Given the description of an element on the screen output the (x, y) to click on. 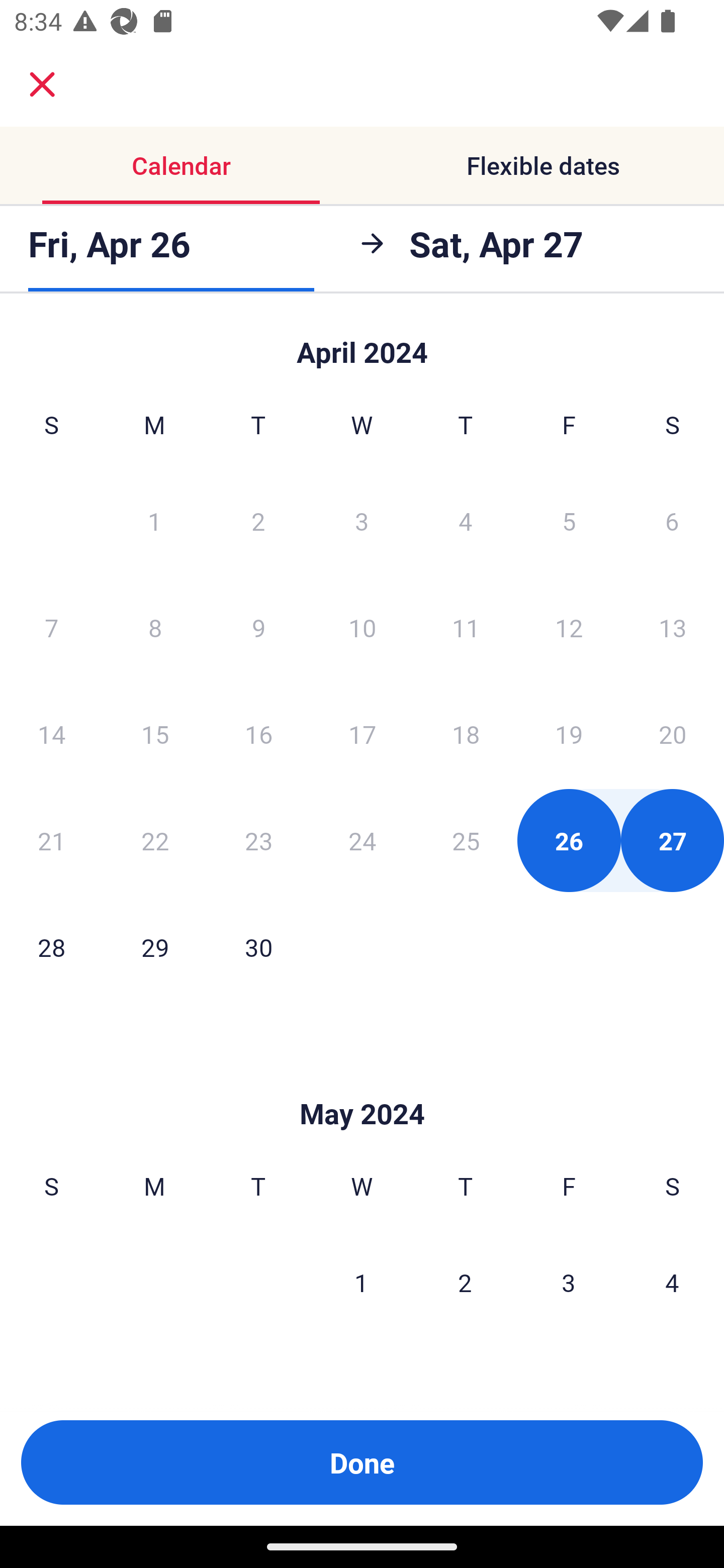
close. (42, 84)
Flexible dates (542, 164)
Skip to Done (362, 343)
1 Monday, April 1, 2024 (154, 520)
2 Tuesday, April 2, 2024 (257, 520)
3 Wednesday, April 3, 2024 (361, 520)
4 Thursday, April 4, 2024 (465, 520)
5 Friday, April 5, 2024 (568, 520)
6 Saturday, April 6, 2024 (672, 520)
7 Sunday, April 7, 2024 (51, 626)
8 Monday, April 8, 2024 (155, 626)
9 Tuesday, April 9, 2024 (258, 626)
10 Wednesday, April 10, 2024 (362, 626)
11 Thursday, April 11, 2024 (465, 626)
12 Friday, April 12, 2024 (569, 626)
13 Saturday, April 13, 2024 (672, 626)
14 Sunday, April 14, 2024 (51, 733)
15 Monday, April 15, 2024 (155, 733)
16 Tuesday, April 16, 2024 (258, 733)
17 Wednesday, April 17, 2024 (362, 733)
18 Thursday, April 18, 2024 (465, 733)
19 Friday, April 19, 2024 (569, 733)
20 Saturday, April 20, 2024 (672, 733)
21 Sunday, April 21, 2024 (51, 840)
22 Monday, April 22, 2024 (155, 840)
23 Tuesday, April 23, 2024 (258, 840)
24 Wednesday, April 24, 2024 (362, 840)
25 Thursday, April 25, 2024 (465, 840)
28 Sunday, April 28, 2024 (51, 946)
29 Monday, April 29, 2024 (155, 946)
30 Tuesday, April 30, 2024 (258, 946)
Skip to Done (362, 1083)
1 Wednesday, May 1, 2024 (361, 1282)
2 Thursday, May 2, 2024 (464, 1282)
3 Friday, May 3, 2024 (568, 1282)
4 Saturday, May 4, 2024 (672, 1282)
Done (361, 1462)
